Given the description of an element on the screen output the (x, y) to click on. 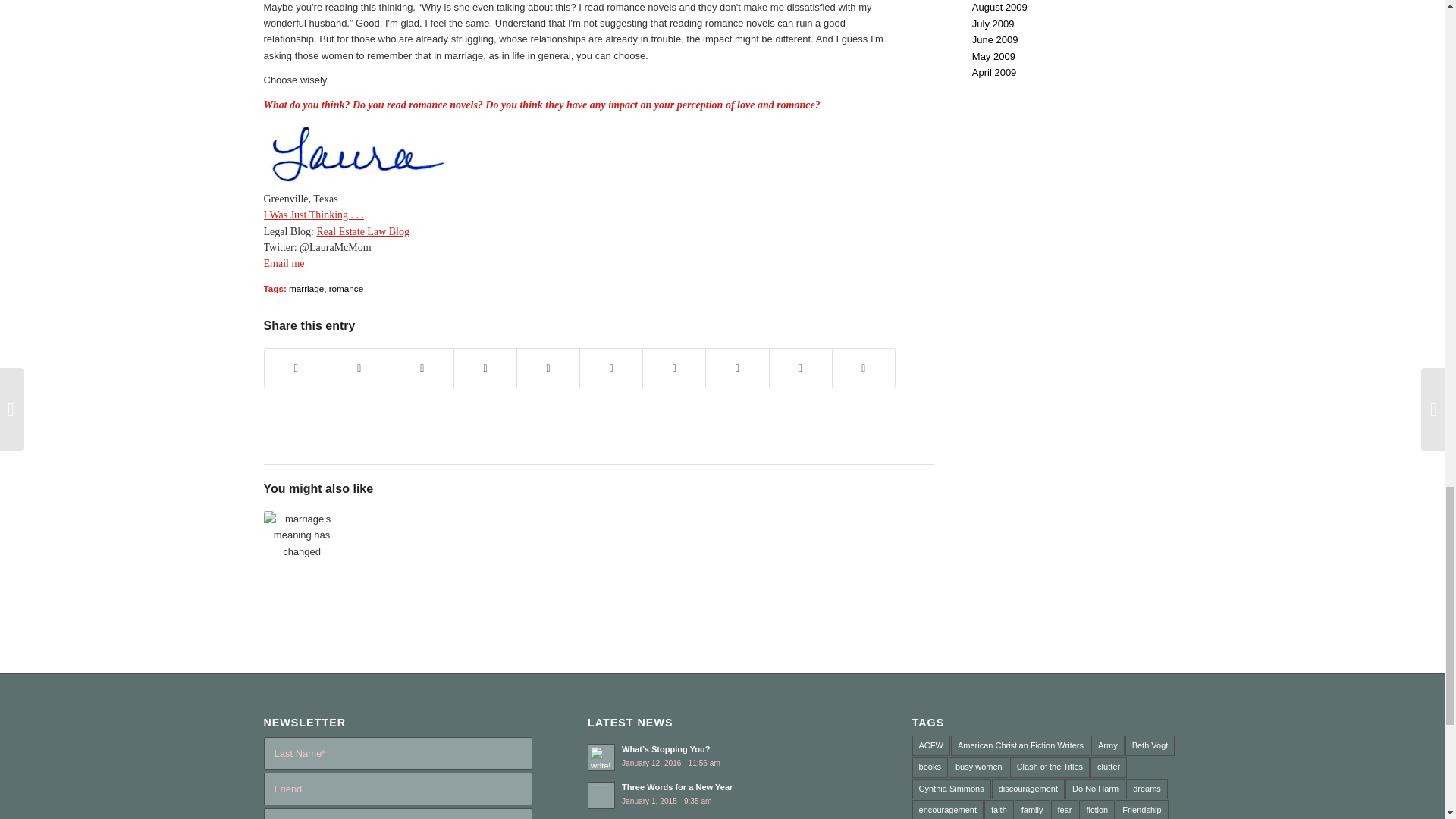
I Was Just Thinking . . . (314, 214)
marriage (305, 288)
Email me (283, 263)
romance (345, 288)
Friend (397, 789)
Real Estate Law Blog (363, 231)
